Given the description of an element on the screen output the (x, y) to click on. 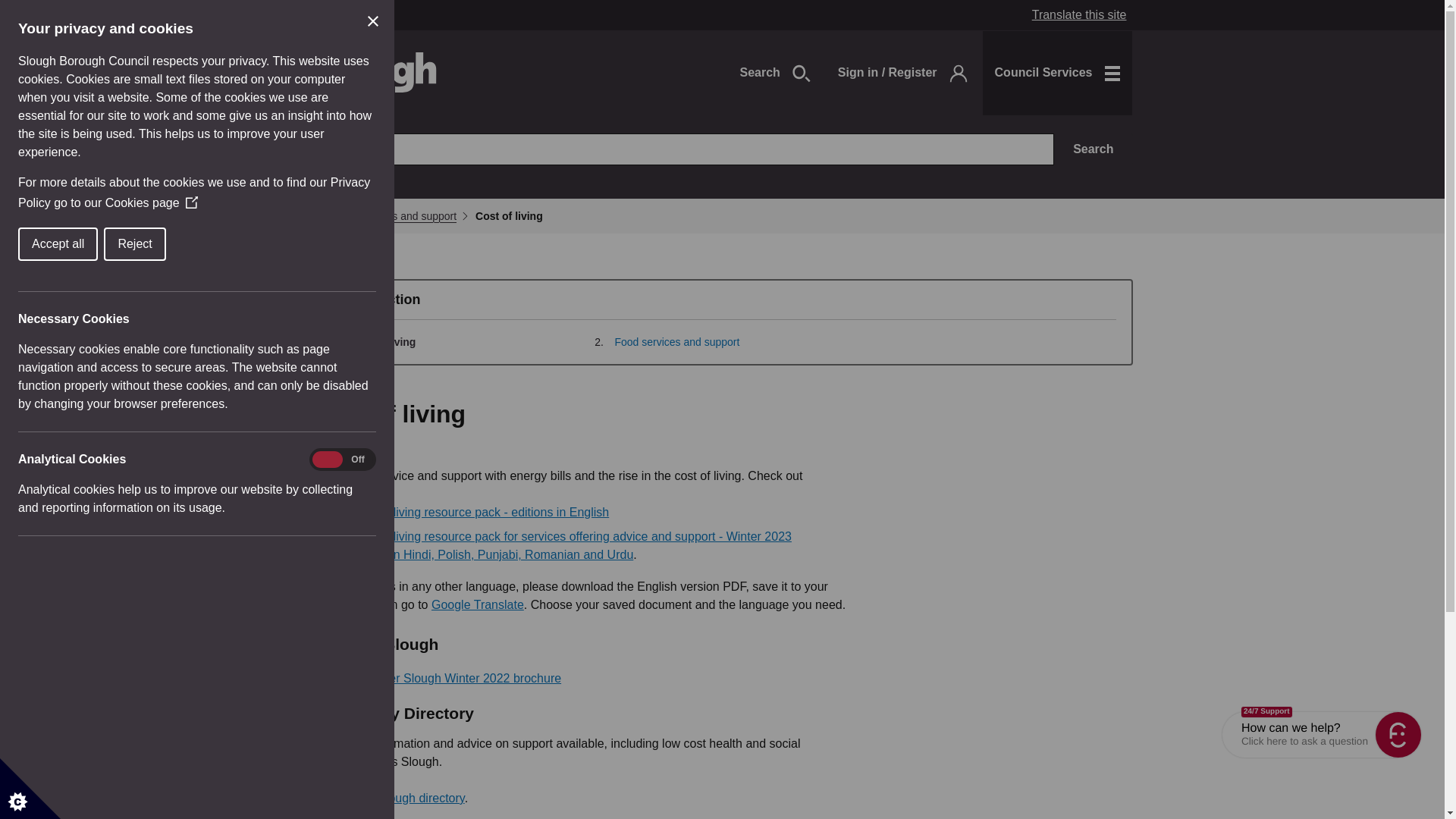
Home (326, 215)
Search (1093, 149)
Council Services (1056, 73)
Translate this site (1079, 15)
Slough Borough Council Home Page (377, 72)
Benefits and support (408, 215)
Reject (38, 244)
Food services and support (676, 341)
Search (774, 73)
Healthier Slough Winter 2022 brochure (457, 677)
Cost of living resource pack - editions in English (481, 512)
Google Translate (477, 604)
